Given the description of an element on the screen output the (x, y) to click on. 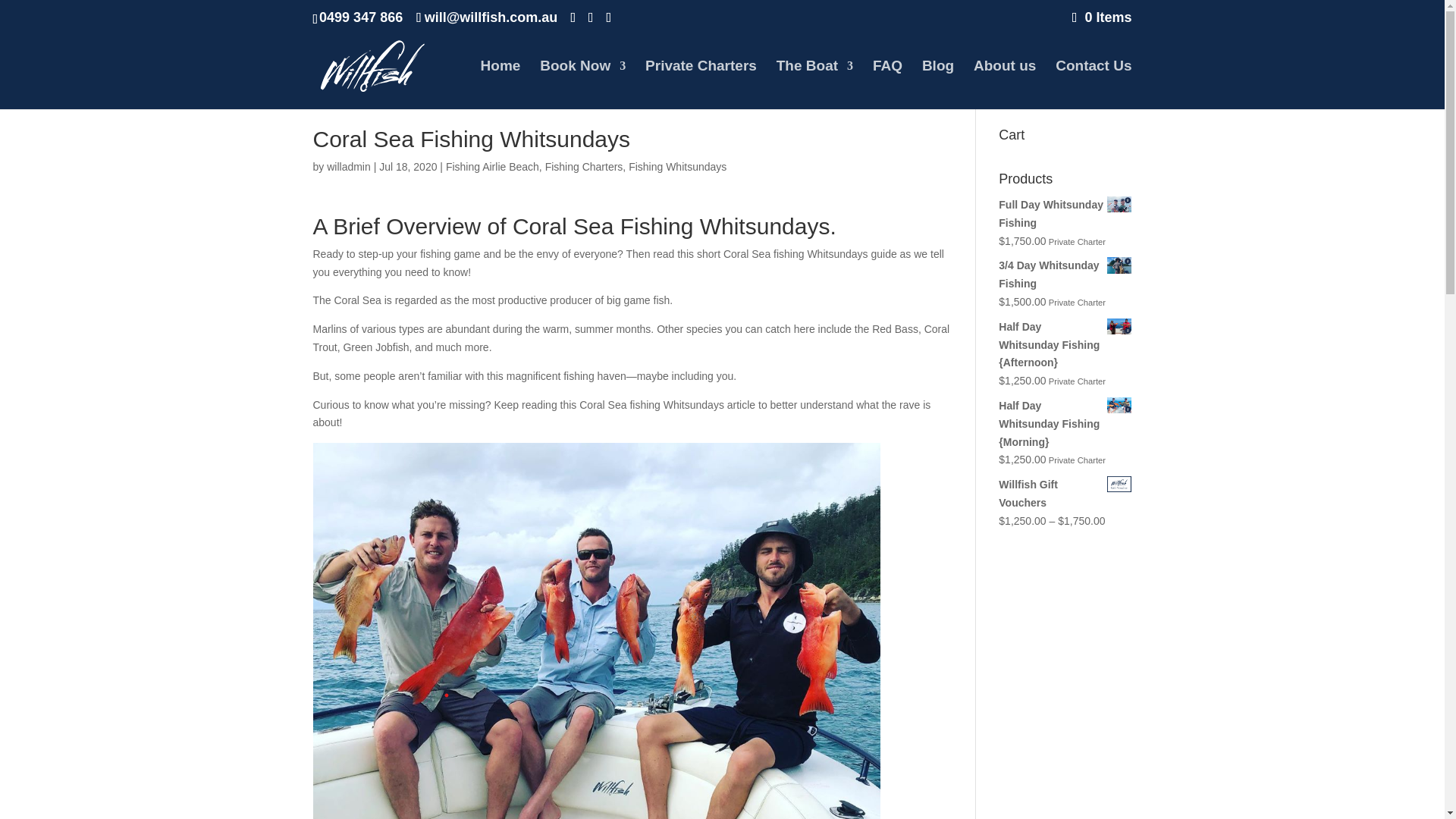
Book Now (583, 84)
Willfish Gift Vouchers (1064, 493)
Full Day Whitsunday Fishing (1064, 214)
Fishing Whitsundays (677, 166)
Fishing Airlie Beach (491, 166)
The Boat (814, 84)
Fishing Charters (583, 166)
Contact Us (1093, 84)
willadmin (348, 166)
Posts by willadmin (348, 166)
Private Charters (701, 84)
About us (1004, 84)
0 Items (1101, 16)
